Given the description of an element on the screen output the (x, y) to click on. 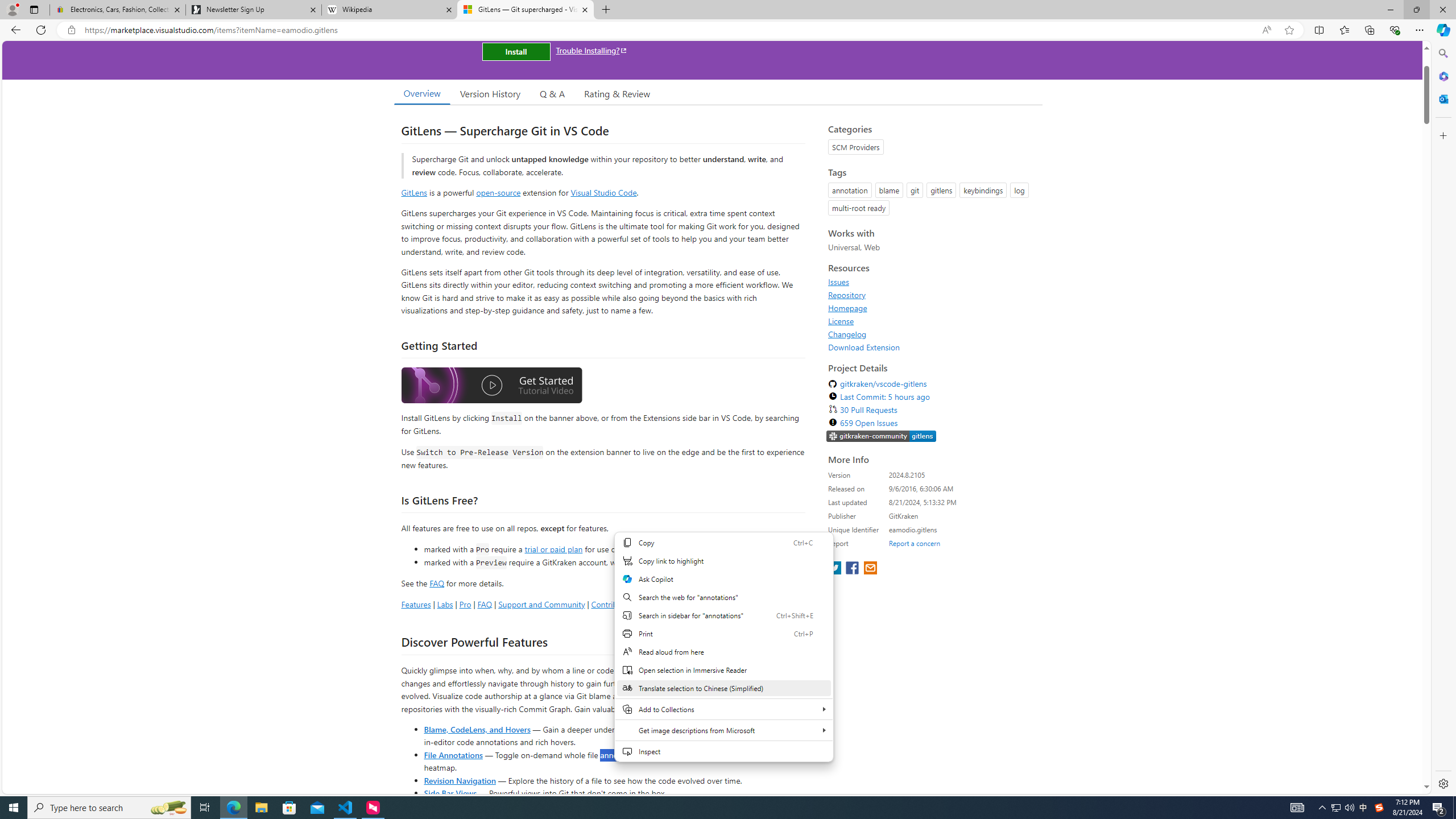
Read aloud from here (723, 651)
Copilot (Ctrl+Shift+.) (1442, 29)
Back (13, 29)
New Tab (606, 9)
Homepage (931, 307)
Version History (489, 92)
share extension on facebook (853, 568)
Search in sidebar for "annotations" (723, 615)
Watch the GitLens Getting Started video (491, 385)
Minimize (1390, 9)
Newsletter Sign Up (253, 9)
